Given the description of an element on the screen output the (x, y) to click on. 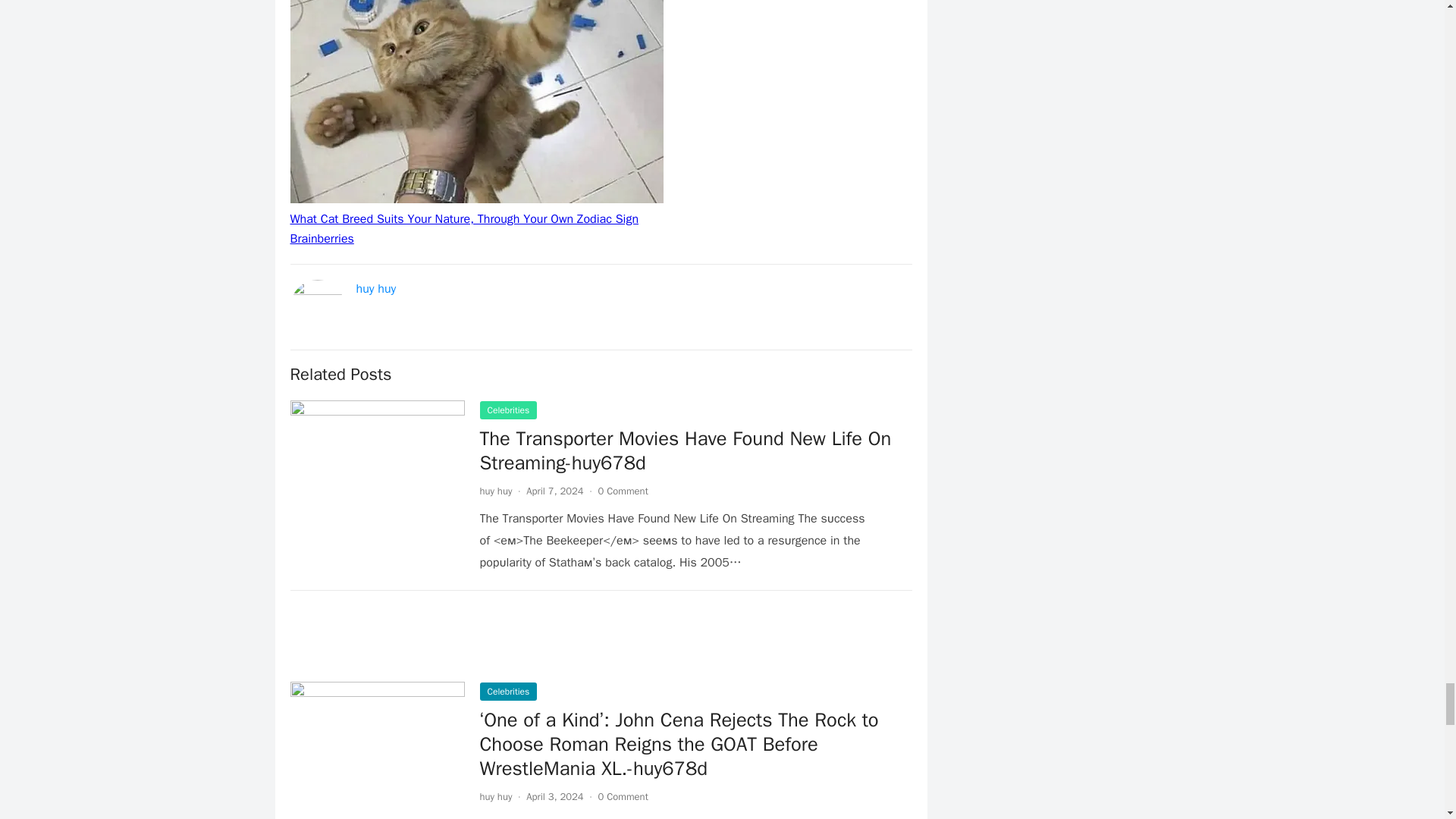
huy huy (495, 796)
0 Comment (622, 490)
huy huy (495, 490)
0 Comment (622, 796)
Posts by huy huy (495, 490)
Posts by huy huy (495, 796)
Celebrities (508, 410)
huy huy (376, 288)
Celebrities (508, 691)
